Given the description of an element on the screen output the (x, y) to click on. 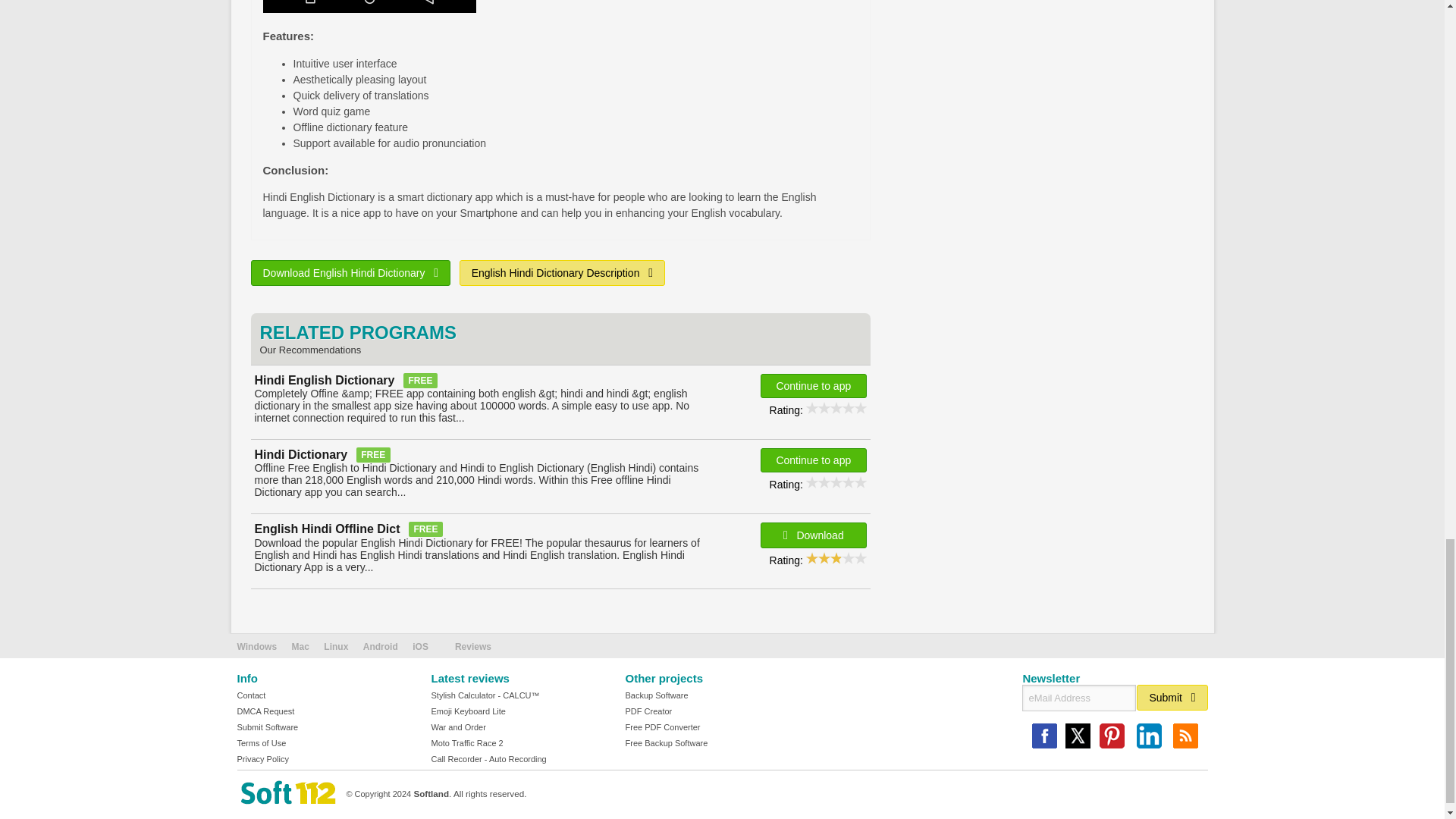
Continue to app (813, 459)
Download English Hindi Dictionary   (349, 272)
Mac (300, 646)
  Download (813, 534)
Windows (255, 646)
English Hindi Dictionary (369, 6)
Linux (335, 646)
English Hindi Dictionary Description   (562, 272)
Continue to app (813, 385)
